Given the description of an element on the screen output the (x, y) to click on. 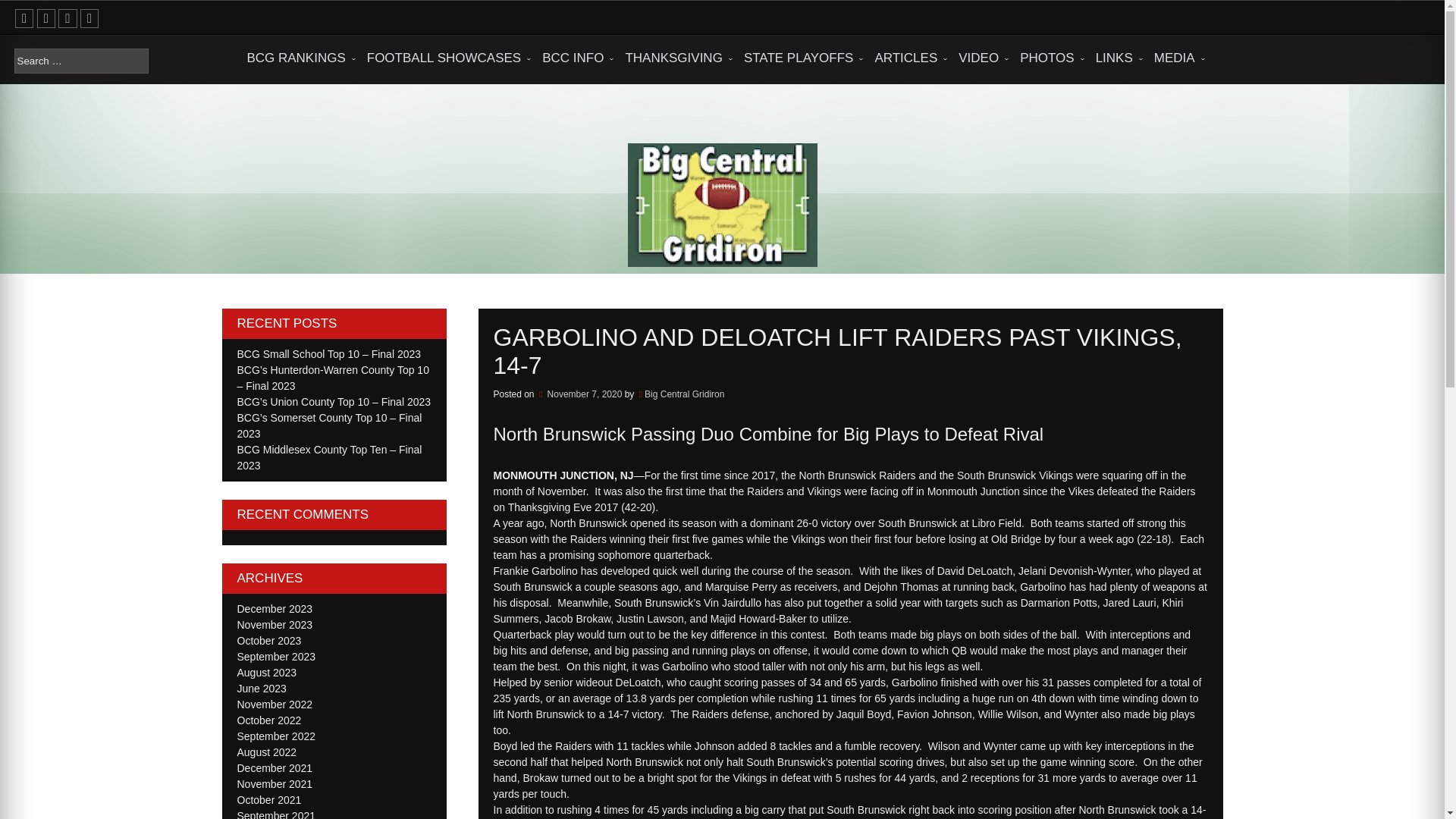
FOOTBALL SHOWCASES (445, 58)
BCC INFO (573, 58)
BCG RANKINGS (296, 58)
